Given the description of an element on the screen output the (x, y) to click on. 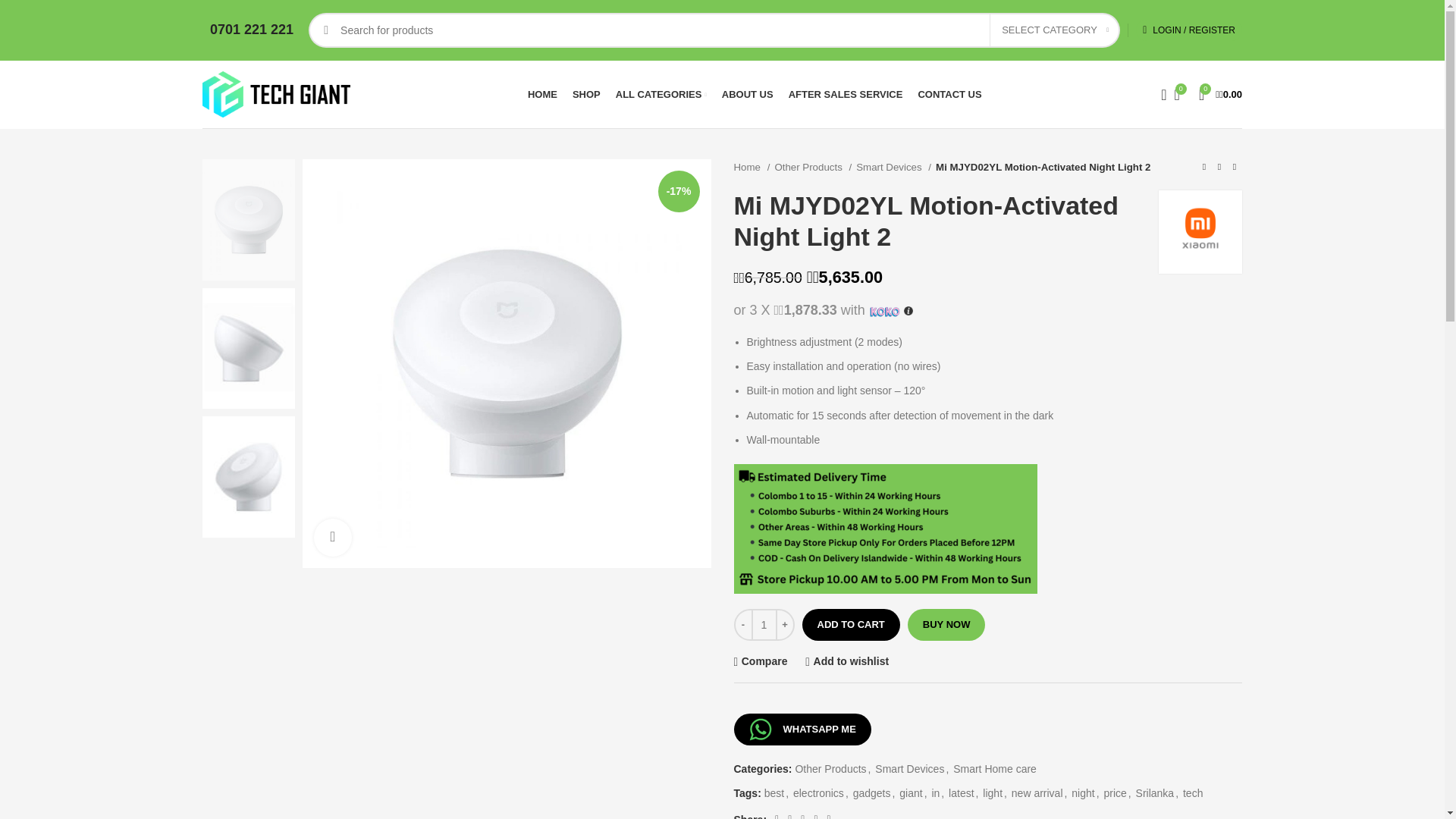
My account (1188, 30)
SELECT CATEGORY (1054, 29)
Search for products (713, 30)
SELECT CATEGORY (1054, 29)
